Given the description of an element on the screen output the (x, y) to click on. 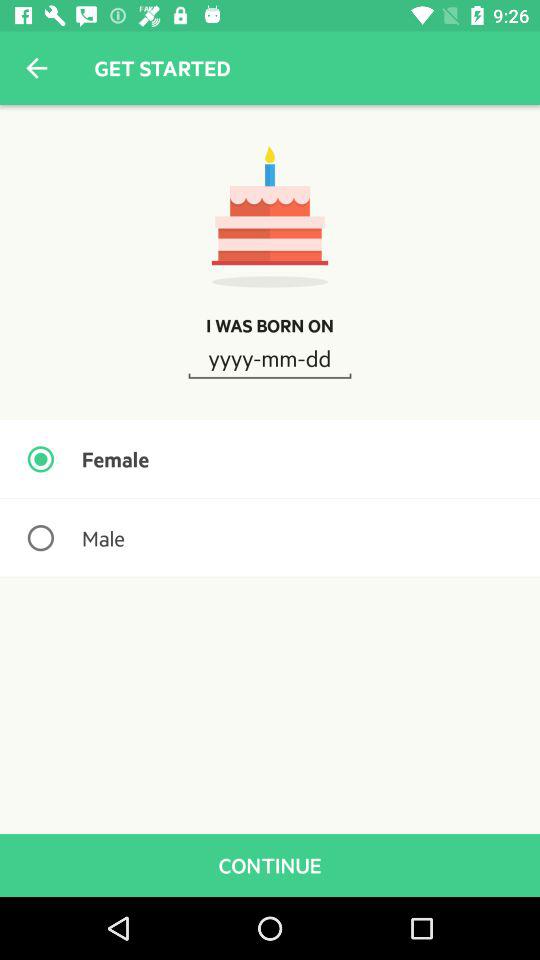
select the item next to the get started item (36, 68)
